Given the description of an element on the screen output the (x, y) to click on. 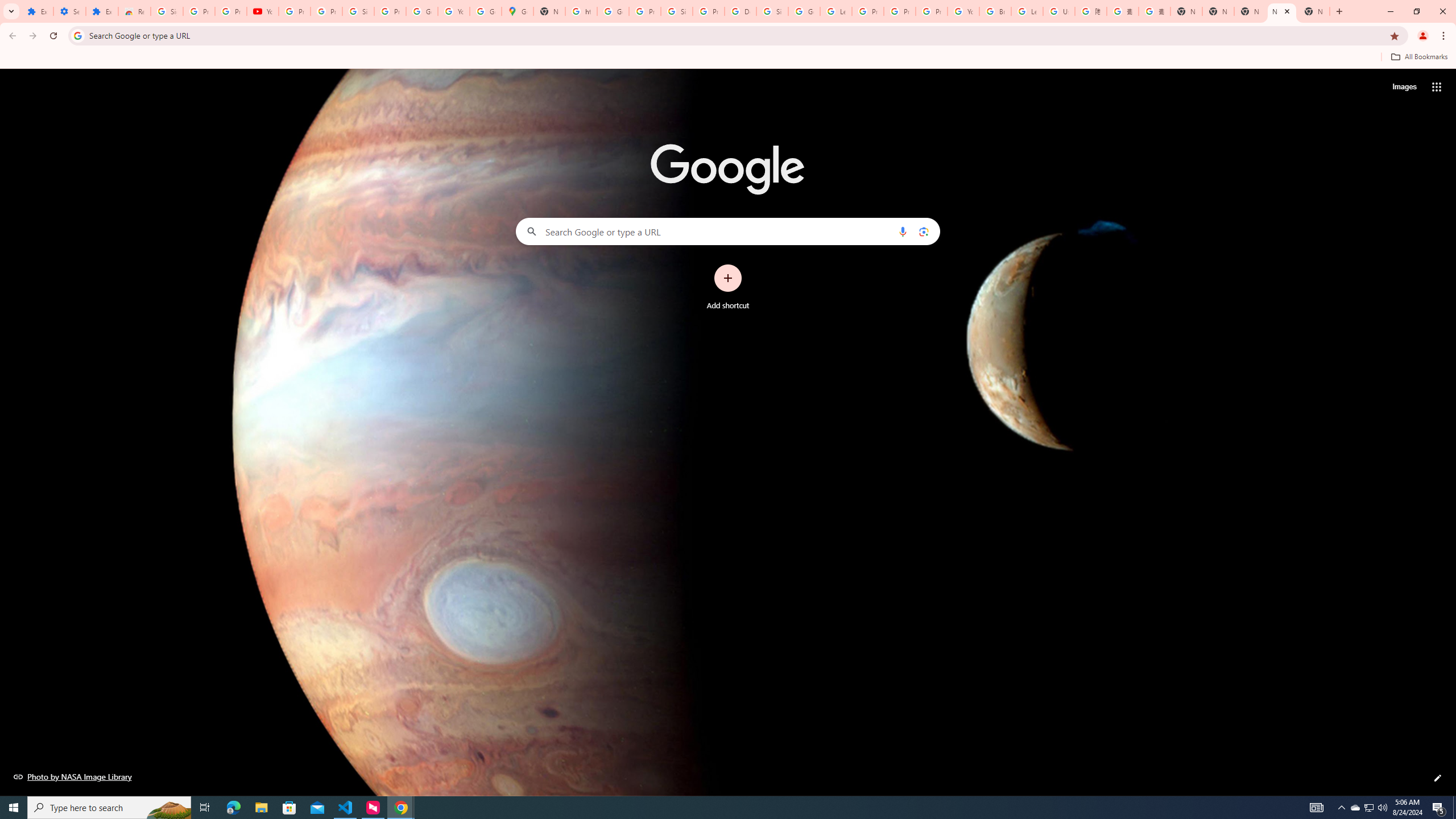
Google Maps (517, 11)
Sign in - Google Accounts (358, 11)
Privacy Help Center - Policies Help (899, 11)
YouTube (262, 11)
Sign in - Google Accounts (772, 11)
Delete specific Google services or your Google Account (740, 11)
Google Account (421, 11)
